Given the description of an element on the screen output the (x, y) to click on. 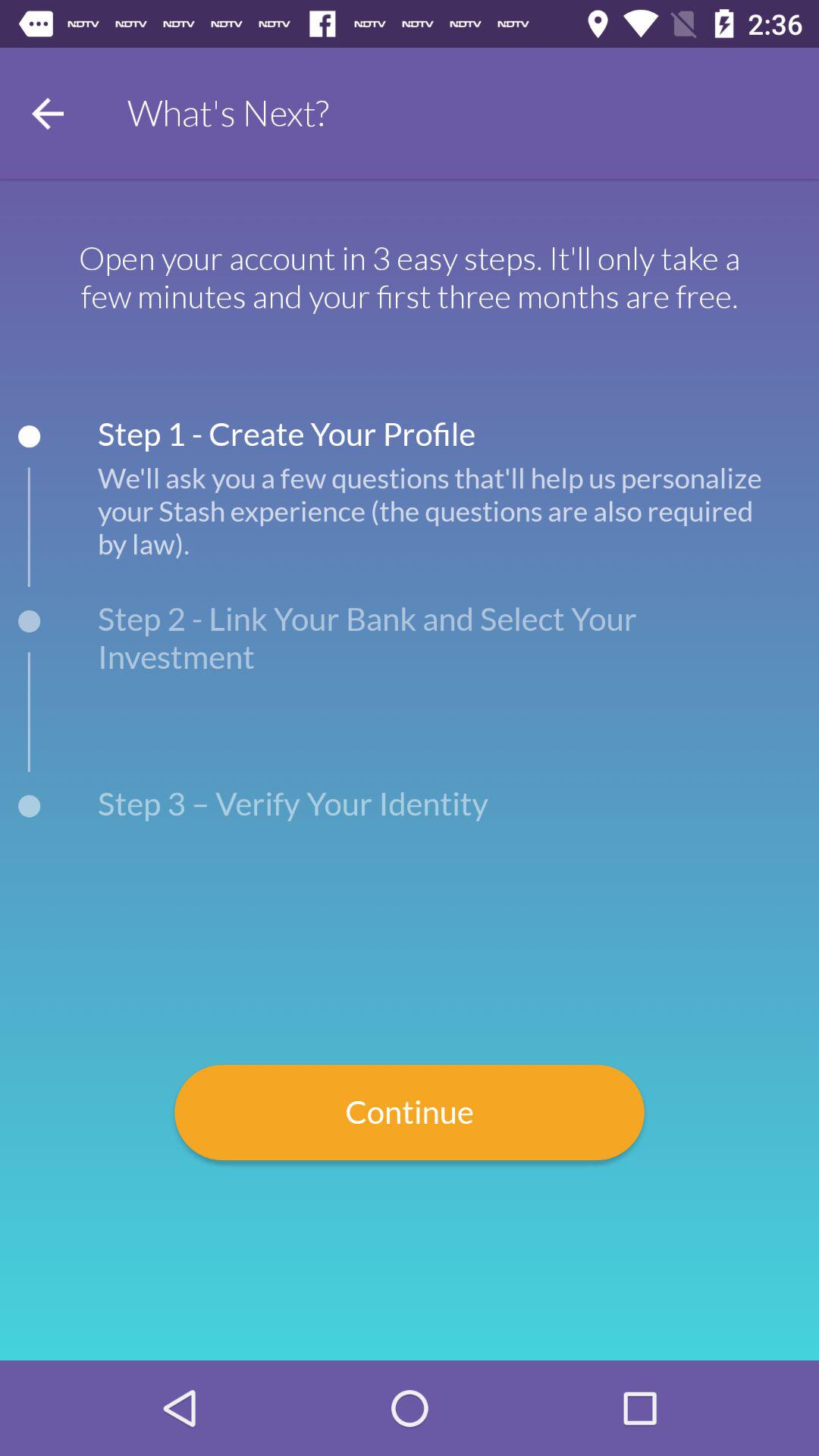
open the item below step 3 verify icon (409, 1112)
